Given the description of an element on the screen output the (x, y) to click on. 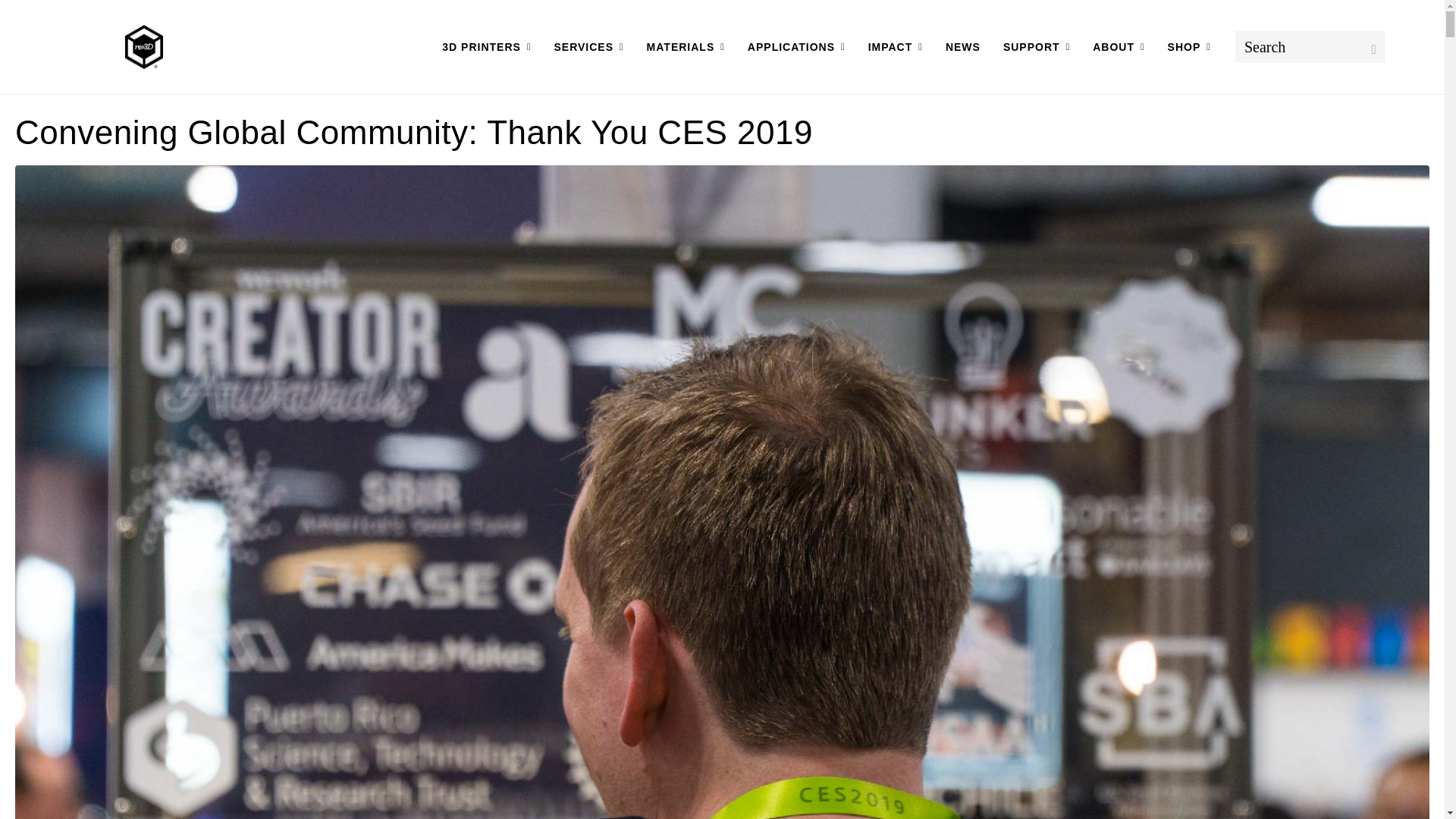
Convening Global Community: Thank You CES 2019 (413, 131)
MATERIALS (685, 47)
Convening Global Community: Thank You CES 2019 (721, 605)
3D PRINTERS (485, 47)
SERVICES (587, 47)
APPLICATIONS (796, 47)
